Given the description of an element on the screen output the (x, y) to click on. 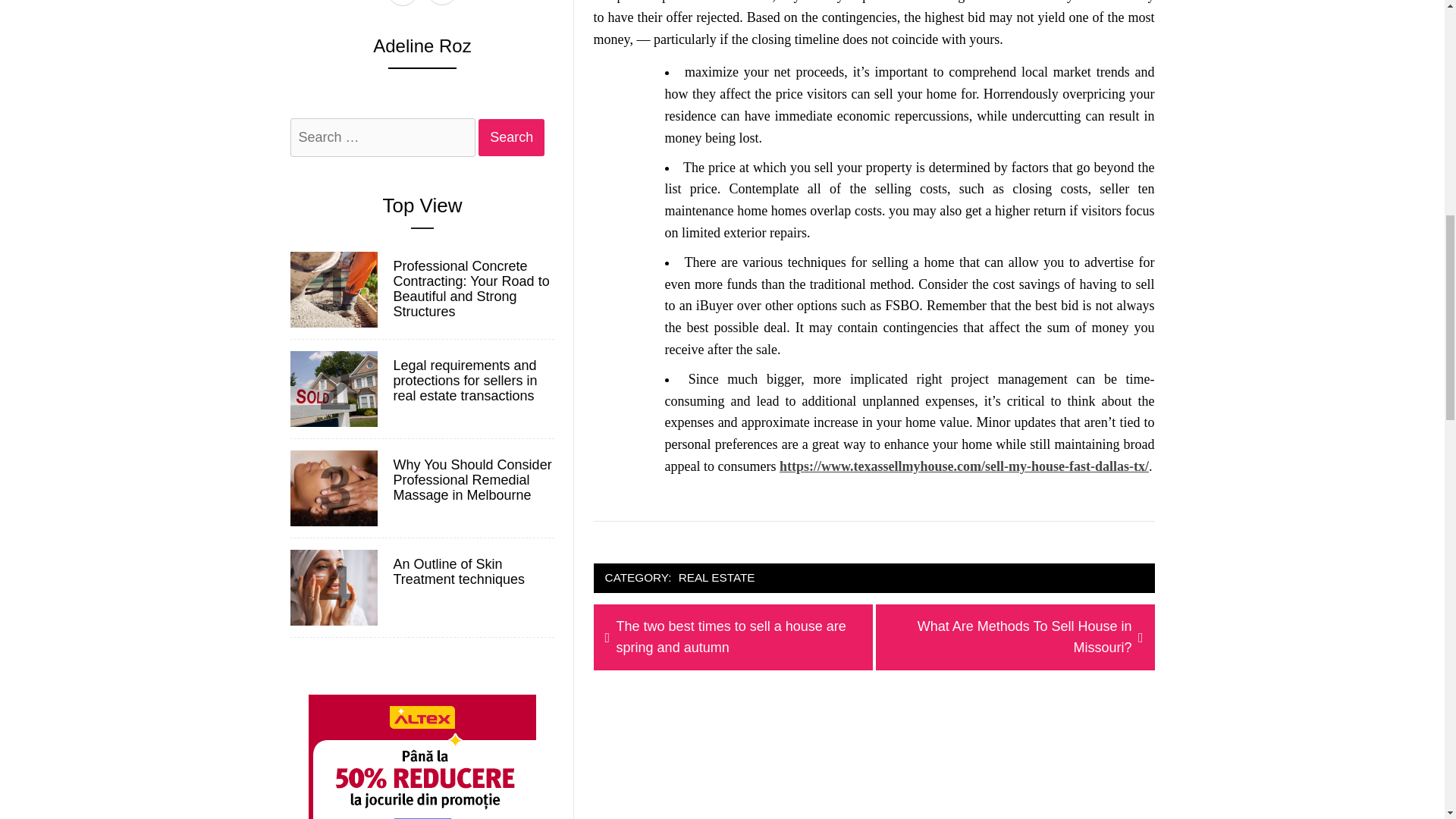
Search (511, 137)
An Outline of Skin Treatment techniques (471, 572)
Search (511, 137)
Search (1014, 637)
REAL ESTATE (511, 137)
